Given the description of an element on the screen output the (x, y) to click on. 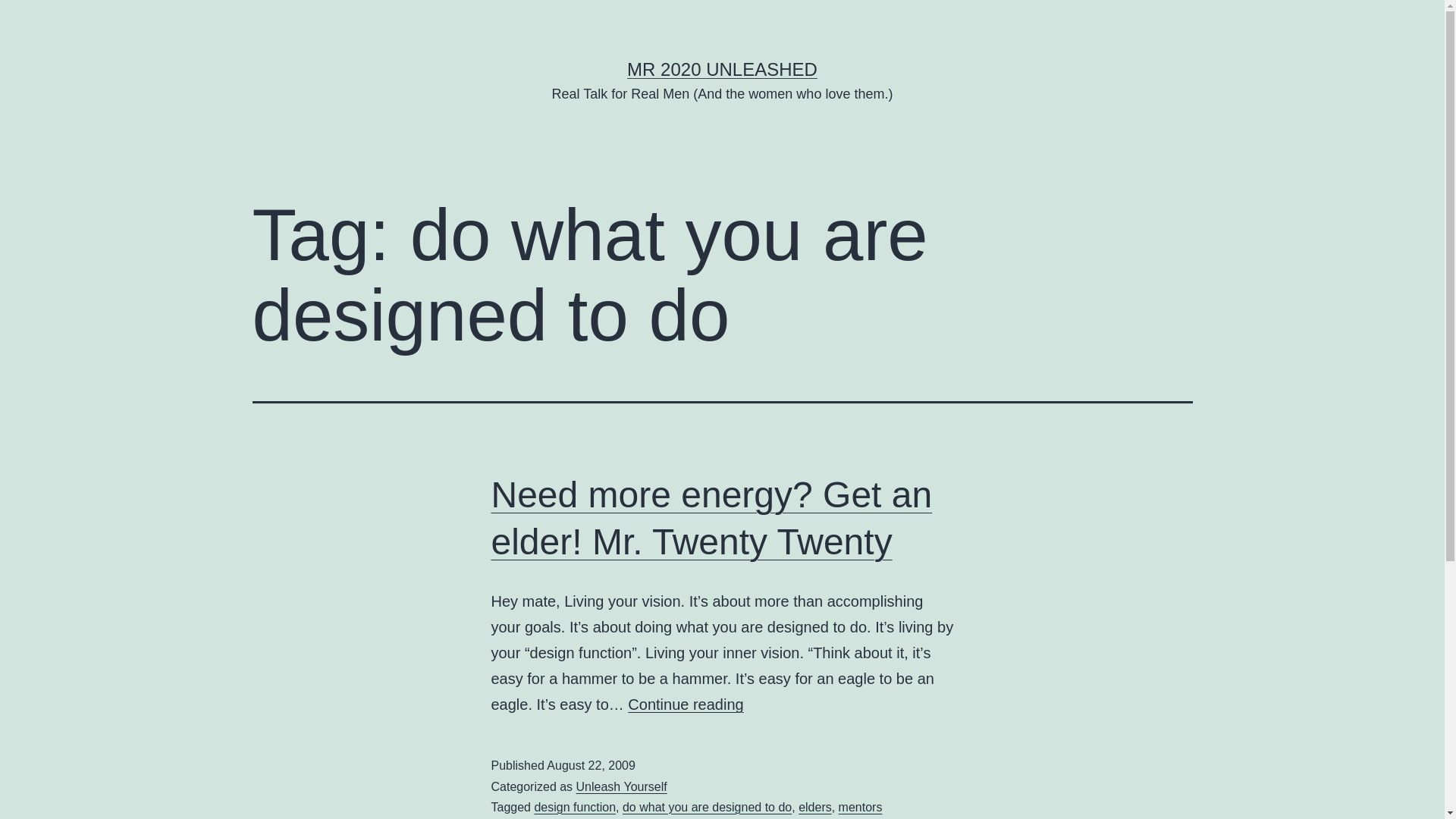
Need more energy? Get an elder! Mr. Twenty Twenty Element type: text (711, 517)
do what you are designed to do Element type: text (706, 806)
elders Element type: text (814, 806)
design function Element type: text (574, 806)
MR 2020 UNLEASHED Element type: text (722, 69)
mentors Element type: text (860, 806)
Unleash Yourself Element type: text (621, 786)
